Given the description of an element on the screen output the (x, y) to click on. 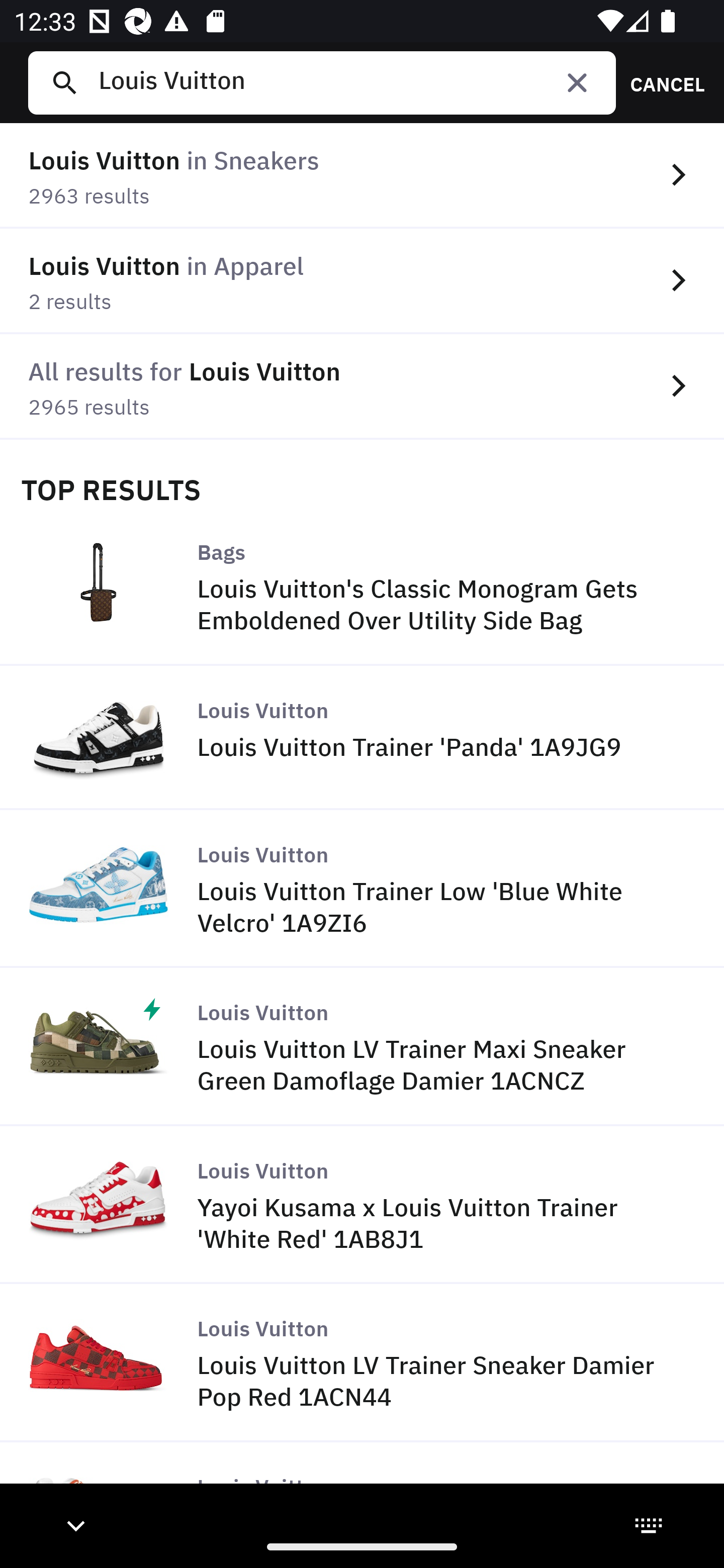
CANCEL (660, 82)
Louis Vuitton (349, 82)
 (577, 82)
Louis Vuitton  in Sneakers 2963 results  (362, 175)
Louis Vuitton  in Apparel 2 results  (362, 280)
All results for  Louis Vuitton 2965 results  (362, 386)
Louis Vuitton Louis Vuitton Trainer 'Panda' 1A9JG9 (362, 738)
